Given the description of an element on the screen output the (x, y) to click on. 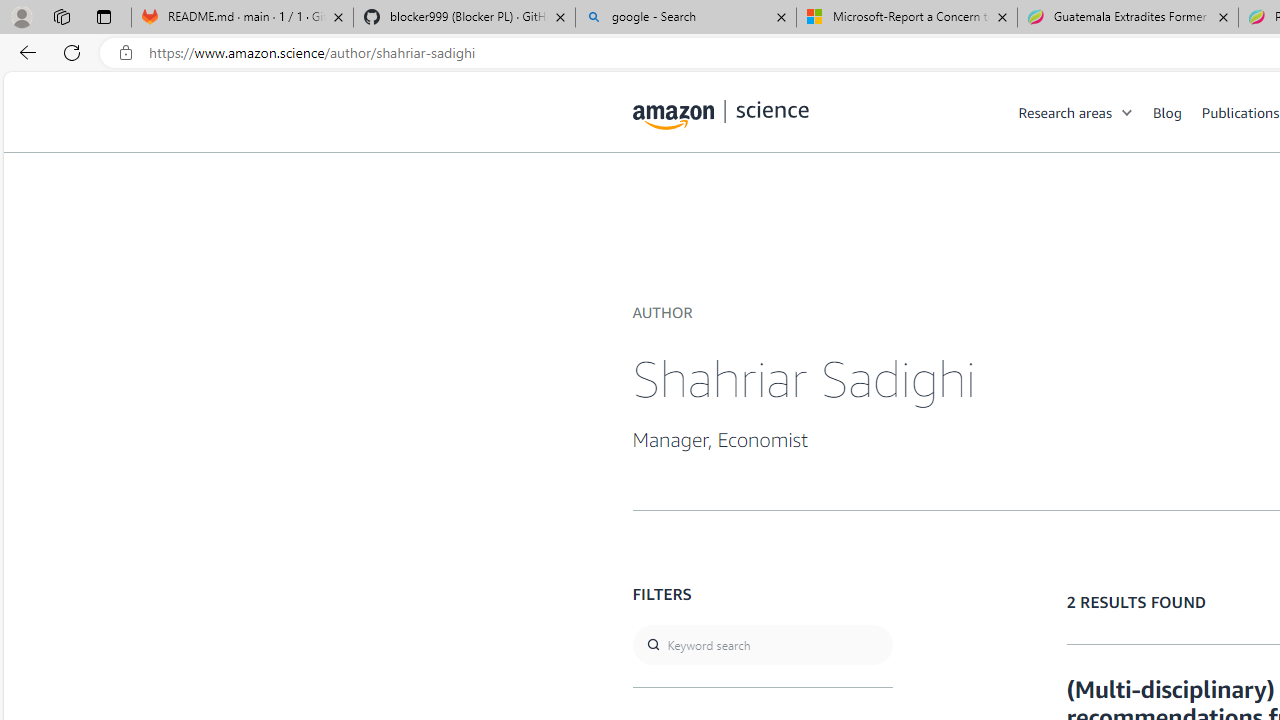
home page (721, 110)
Class: icon-magnify (654, 192)
google - Search (686, 17)
Blog (1167, 111)
amazon-science-logo.svg (721, 115)
search (762, 645)
